Given the description of an element on the screen output the (x, y) to click on. 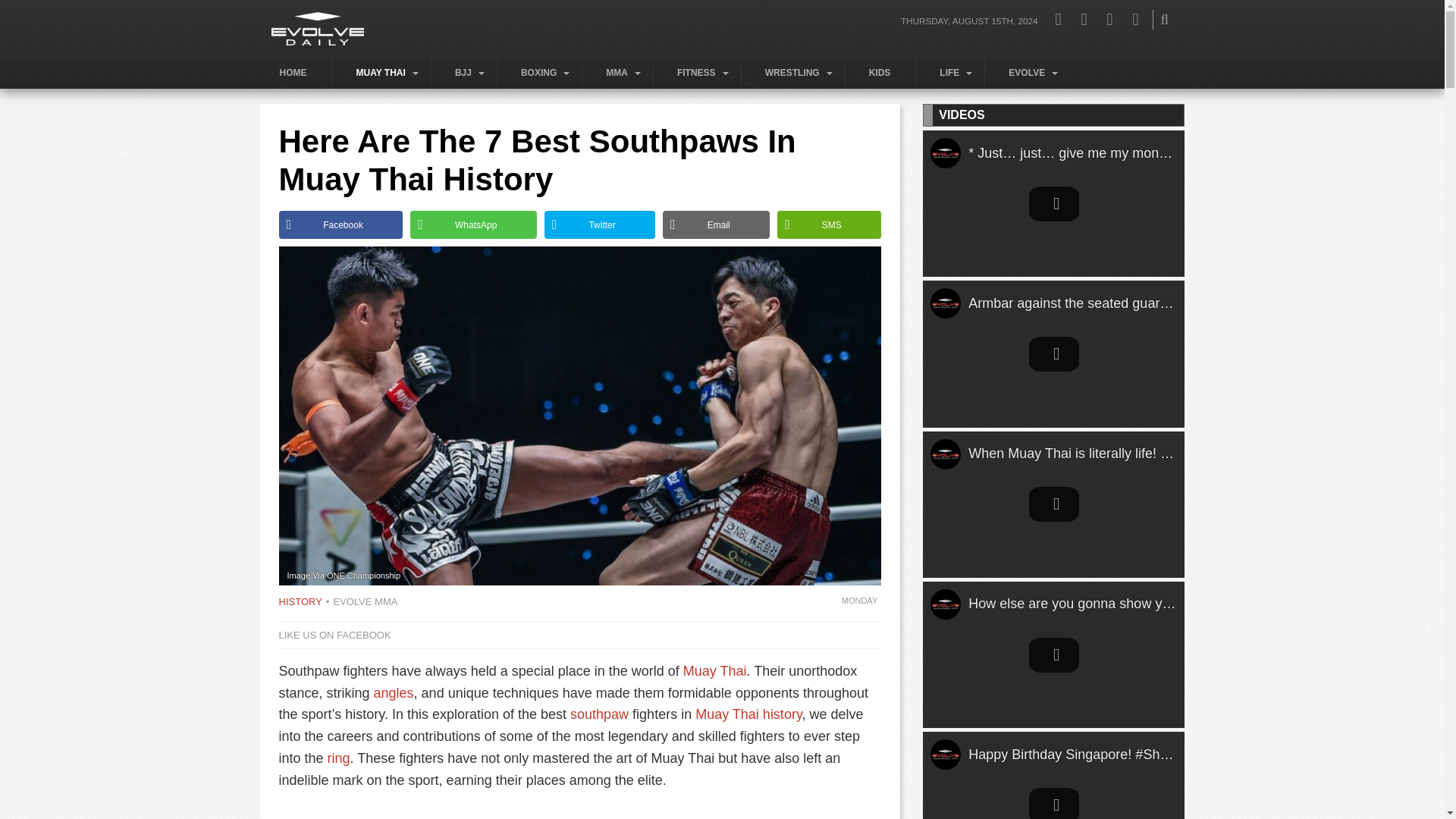
Posts by Evolve MMA (361, 601)
MUAY THAI (383, 72)
HOME (295, 72)
History (300, 601)
